Given the description of an element on the screen output the (x, y) to click on. 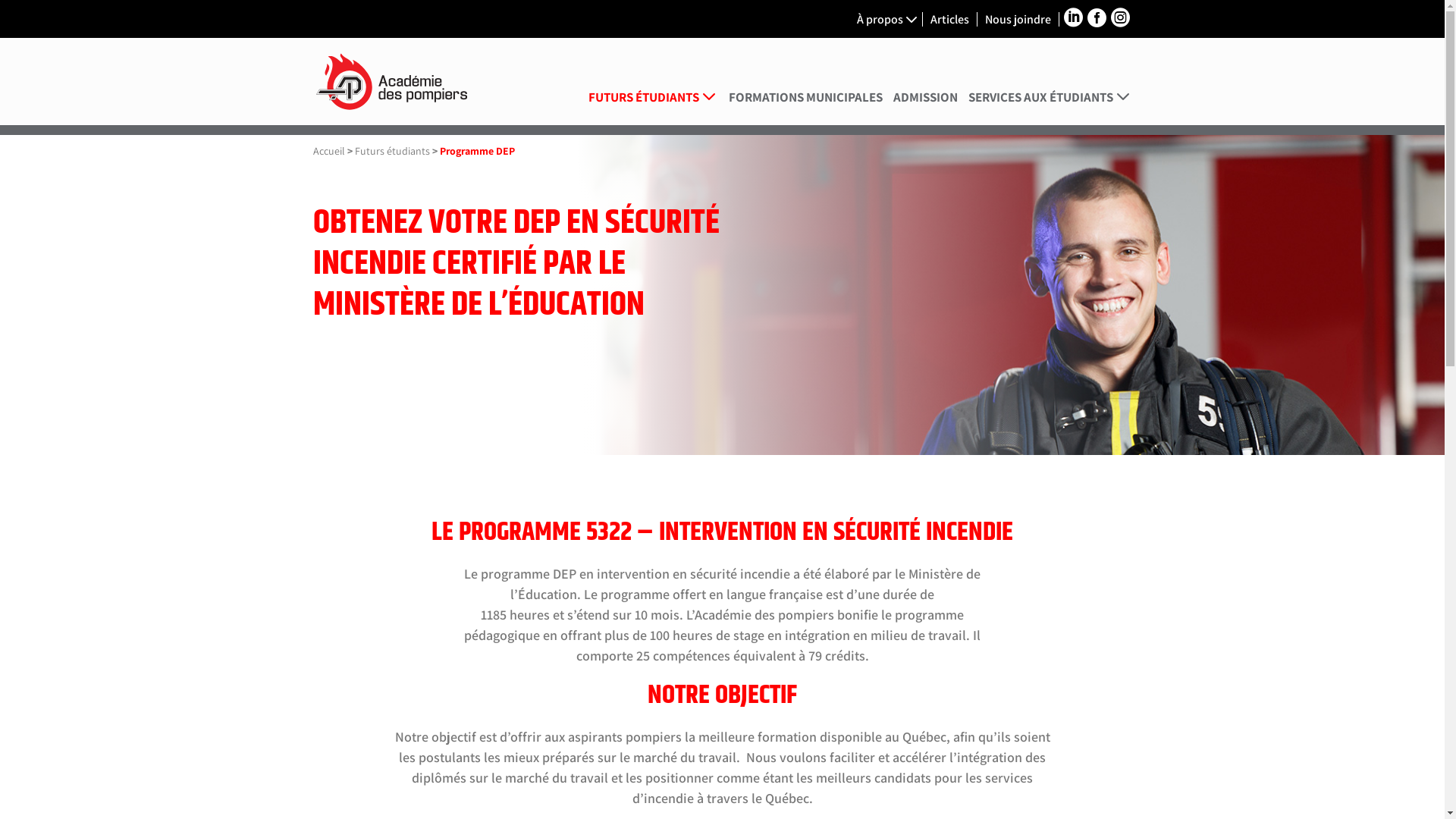
Accueil Element type: text (328, 150)
Articles Element type: text (950, 19)
Nous joindre Element type: text (1018, 19)
FORMATIONS MUNICIPALES Element type: text (804, 108)
ADMISSION Element type: text (925, 108)
